Given the description of an element on the screen output the (x, y) to click on. 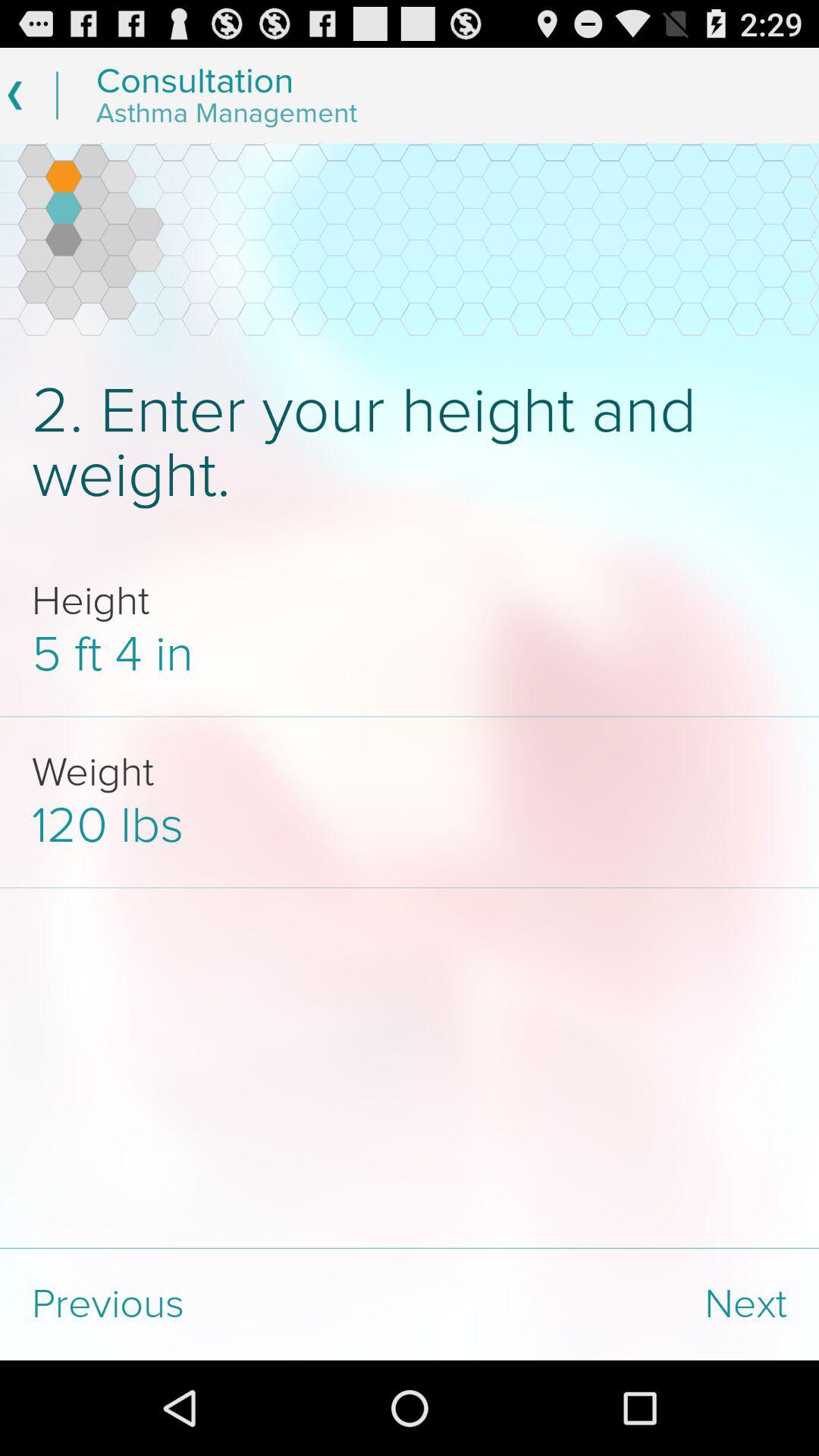
swipe until the previous icon (204, 1304)
